Given the description of an element on the screen output the (x, y) to click on. 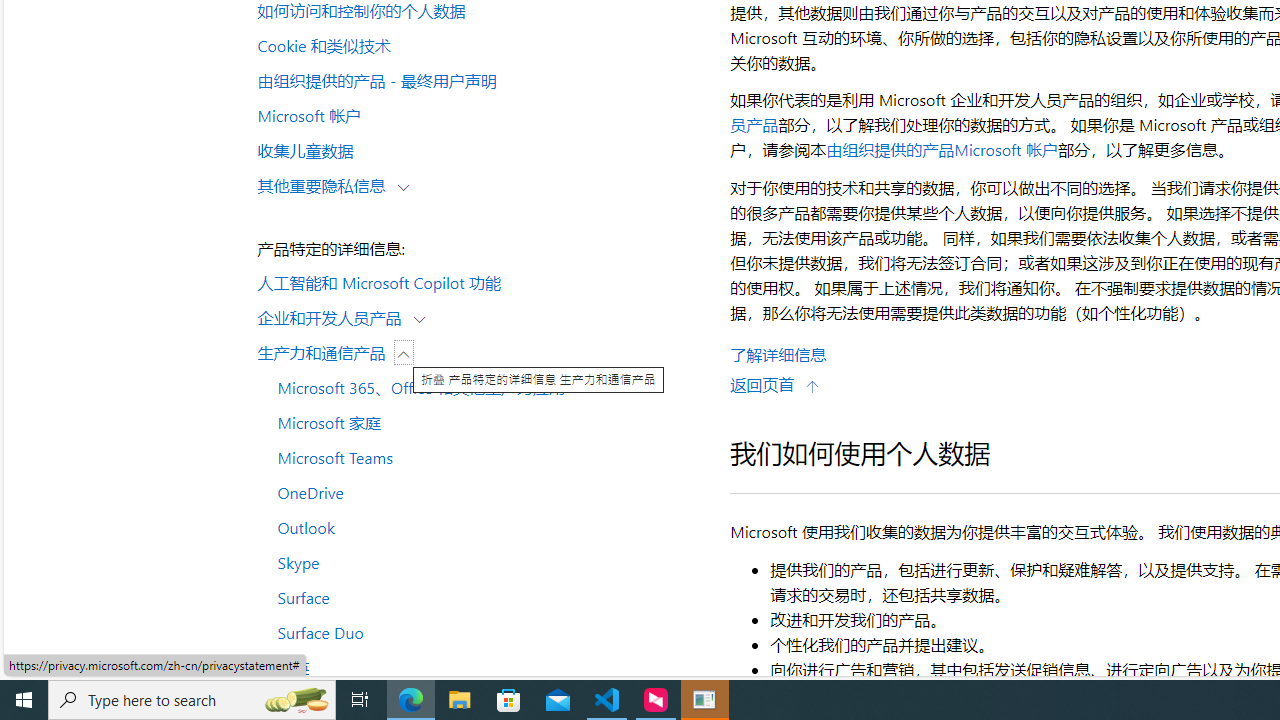
Microsoft Teams (483, 457)
Surface (483, 596)
OneDrive (483, 491)
Surface Duo (483, 632)
